Given the description of an element on the screen output the (x, y) to click on. 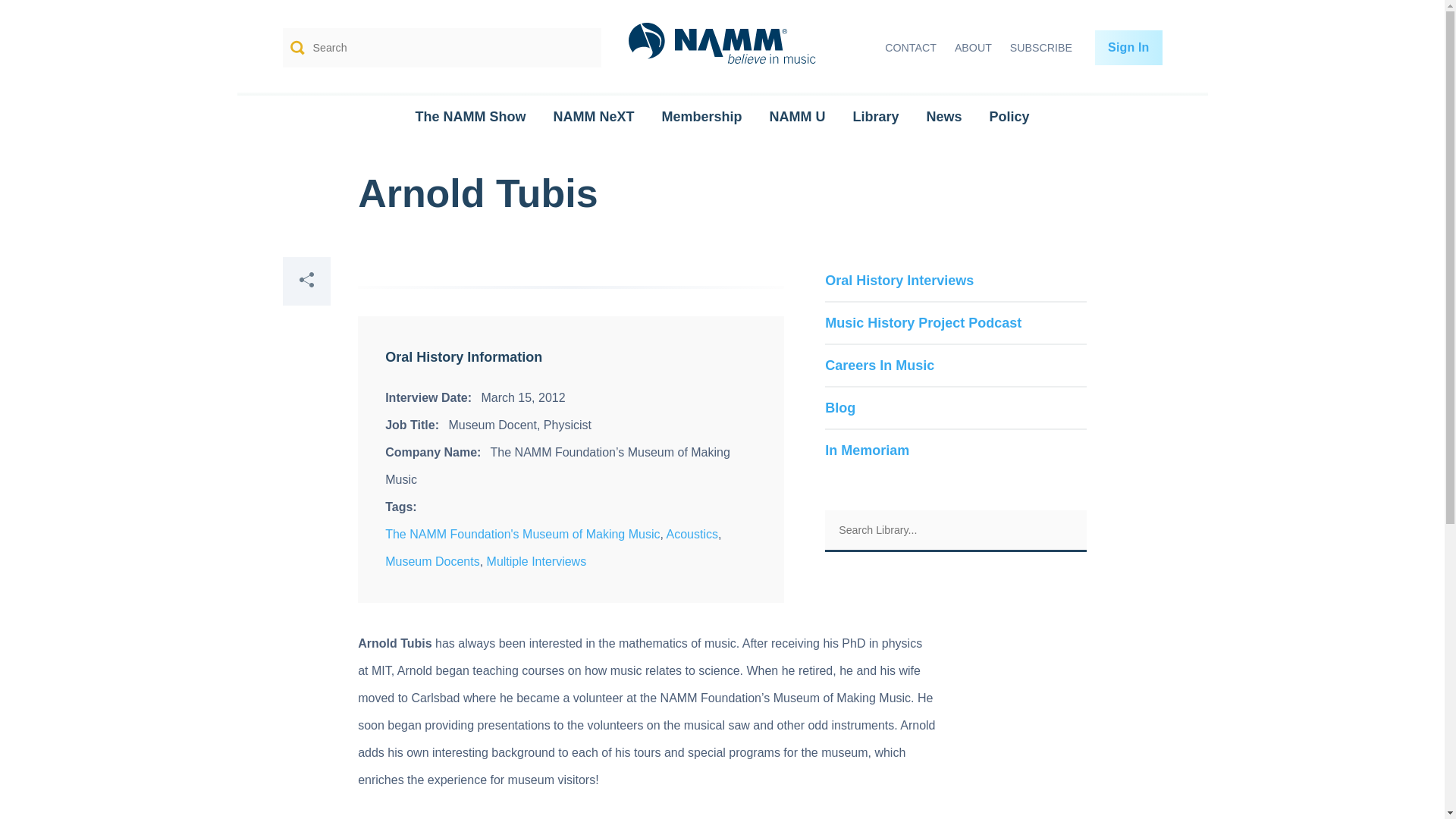
NAMM Home (721, 47)
Sign In (1127, 47)
News (943, 116)
Manage Your Subscriptions to NAMM communications (1041, 47)
About (972, 47)
Library (875, 116)
Apply (579, 47)
NAMM NeXT (592, 116)
NAMM U (796, 116)
